Given the description of an element on the screen output the (x, y) to click on. 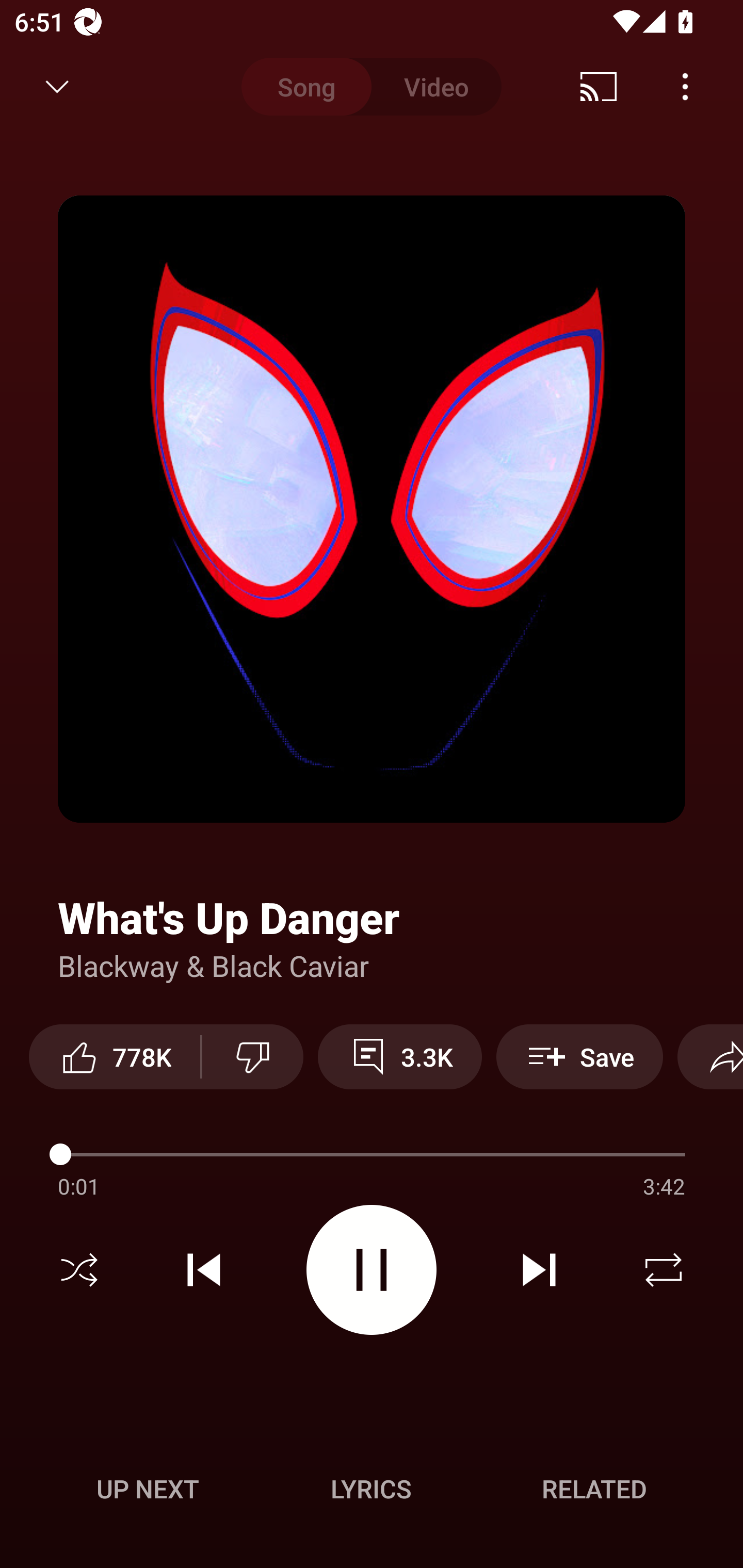
Minimize (57, 86)
Cast. Disconnected (598, 86)
Menu (684, 86)
Dislike (252, 1056)
3.3K View 3,333 comments (400, 1056)
Save Save to playlist (579, 1056)
Share (710, 1056)
Pause video (371, 1269)
Shuffle off (79, 1269)
Previous track (203, 1269)
Next track (538, 1269)
Repeat off (663, 1269)
Up next UP NEXT Lyrics LYRICS Related RELATED (371, 1491)
Lyrics LYRICS (370, 1488)
Related RELATED (594, 1488)
